Given the description of an element on the screen output the (x, y) to click on. 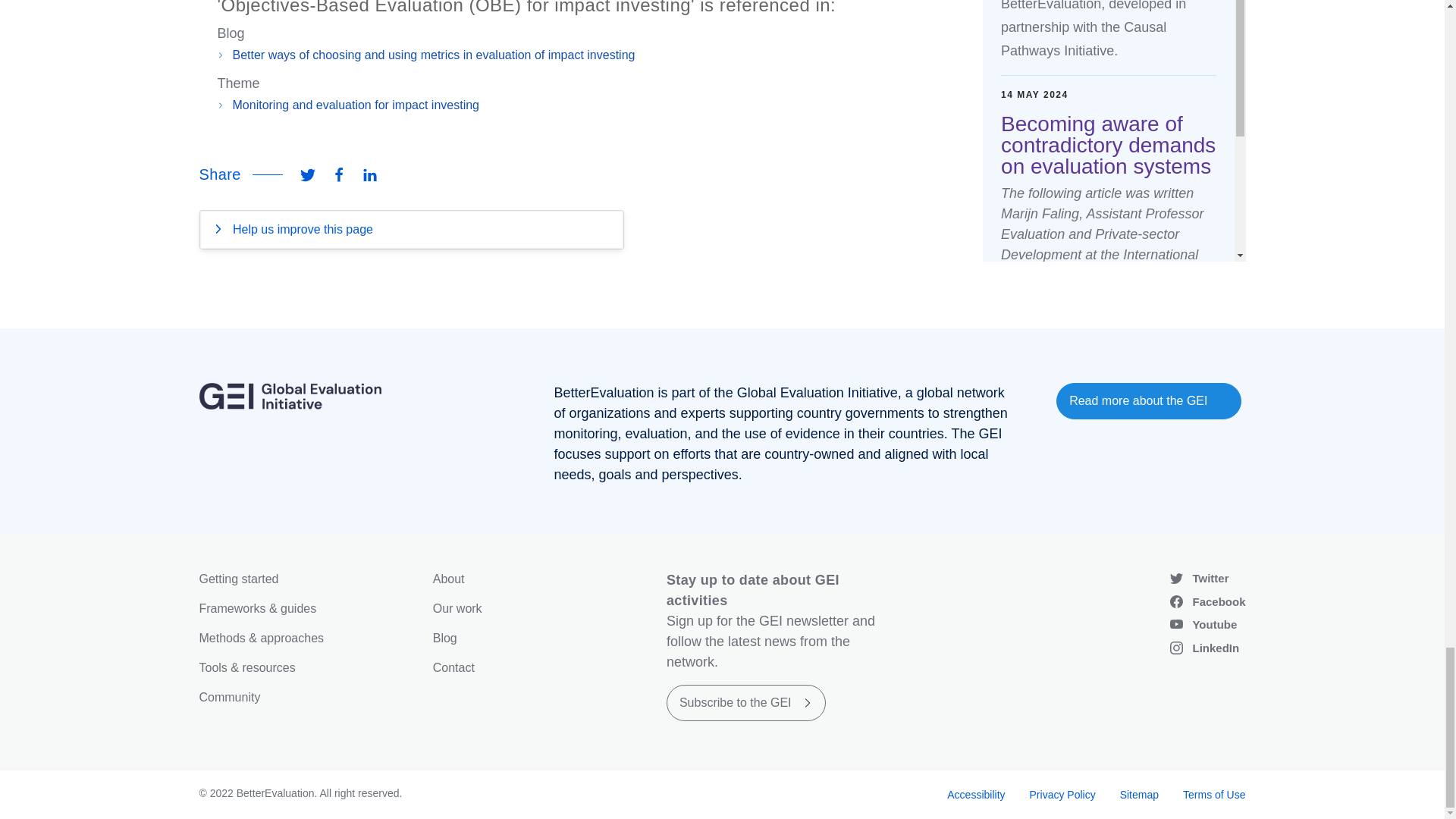
Share this via LinkedIn (370, 174)
Share this via Facebook (338, 174)
Site accessibility (975, 794)
Share this via Twitter (307, 174)
